Given the description of an element on the screen output the (x, y) to click on. 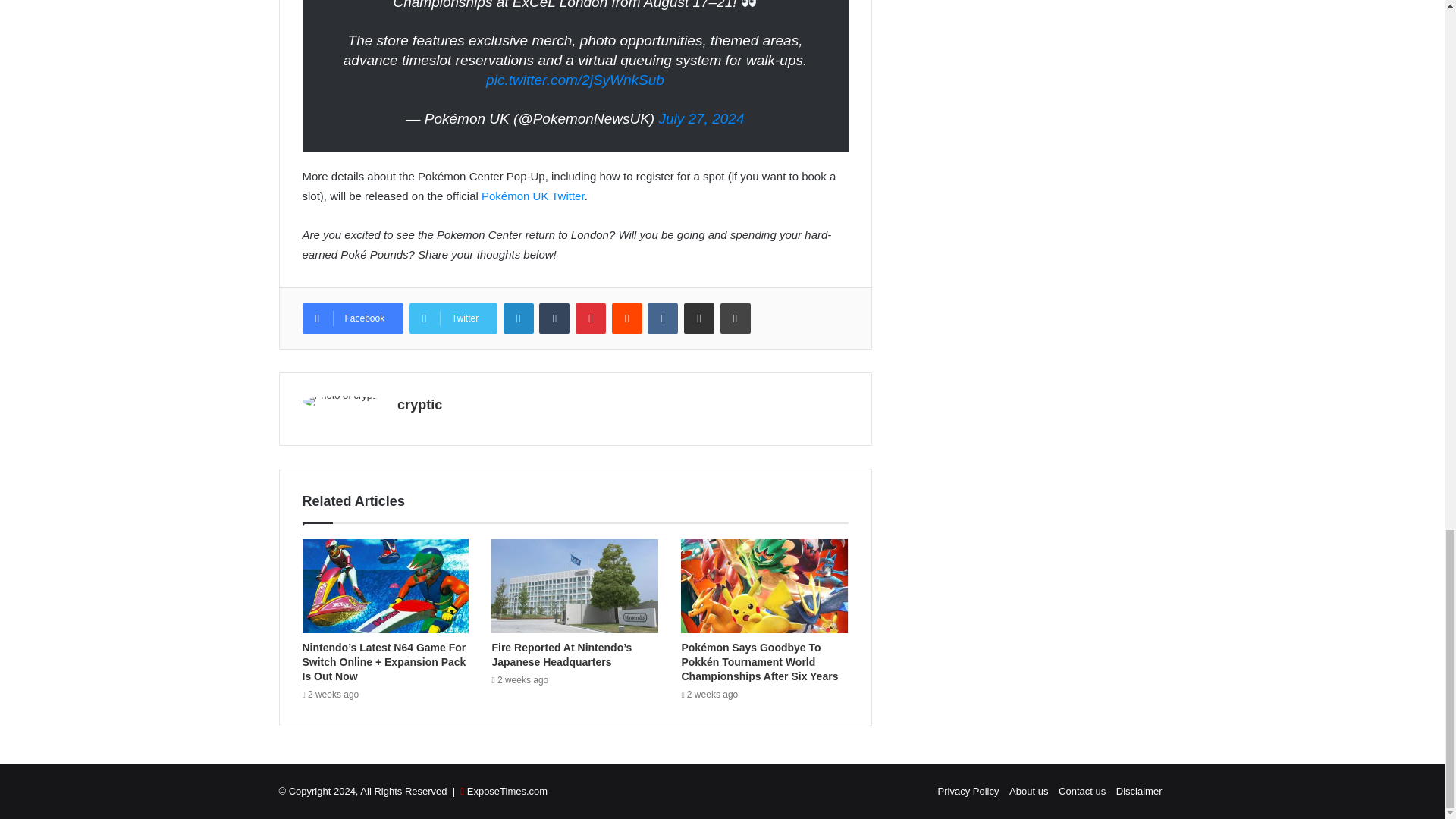
LinkedIn (518, 318)
Print (735, 318)
cryptic (419, 404)
VKontakte (662, 318)
Twitter (453, 318)
Pinterest (590, 318)
Tumblr (553, 318)
Facebook (352, 318)
LinkedIn (518, 318)
Tumblr (553, 318)
